Given the description of an element on the screen output the (x, y) to click on. 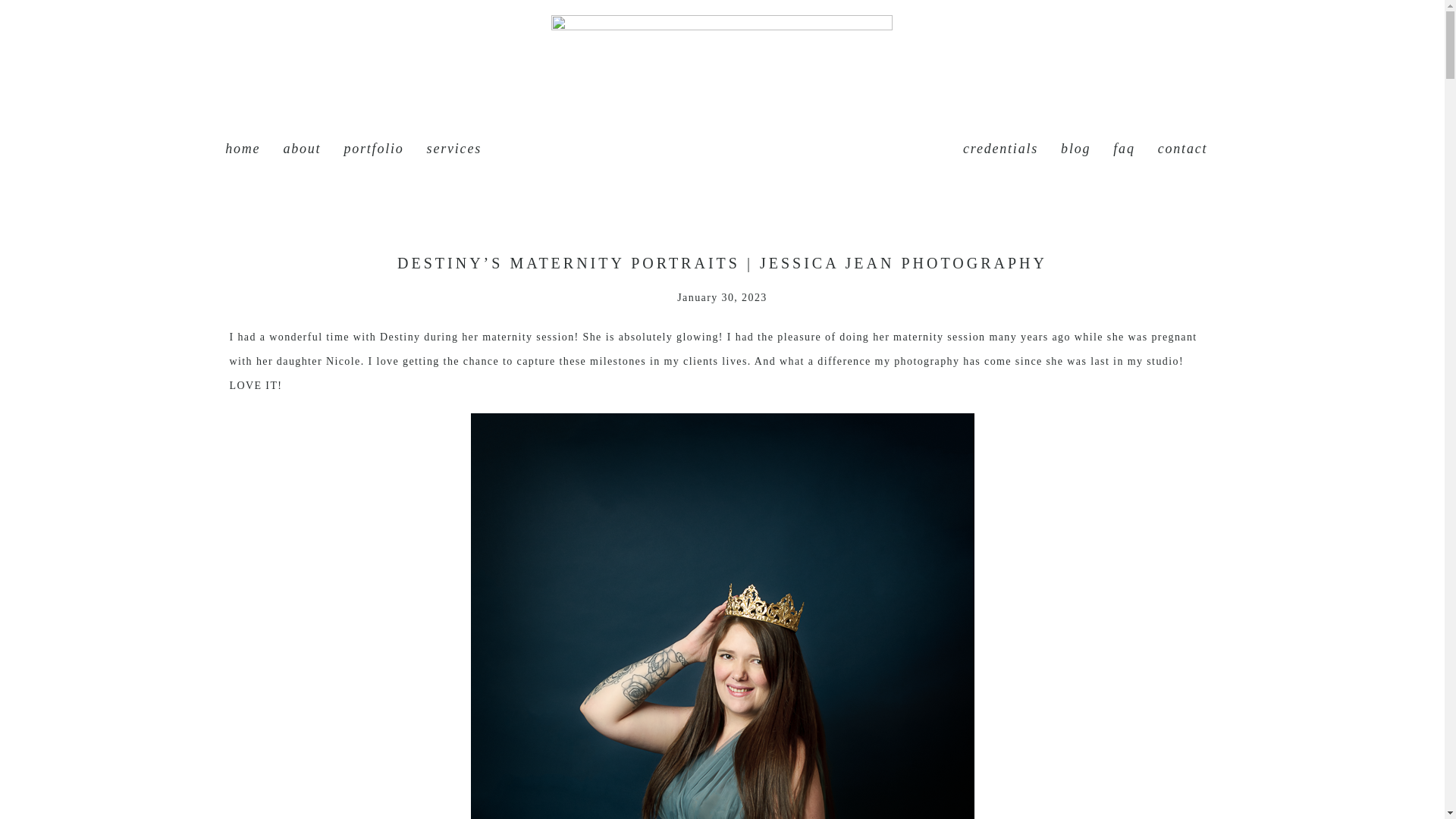
blog (1075, 148)
faq (1123, 148)
contact (1182, 148)
services (453, 148)
credentials (1000, 148)
portfolio (373, 148)
about (301, 148)
home (242, 148)
